Given the description of an element on the screen output the (x, y) to click on. 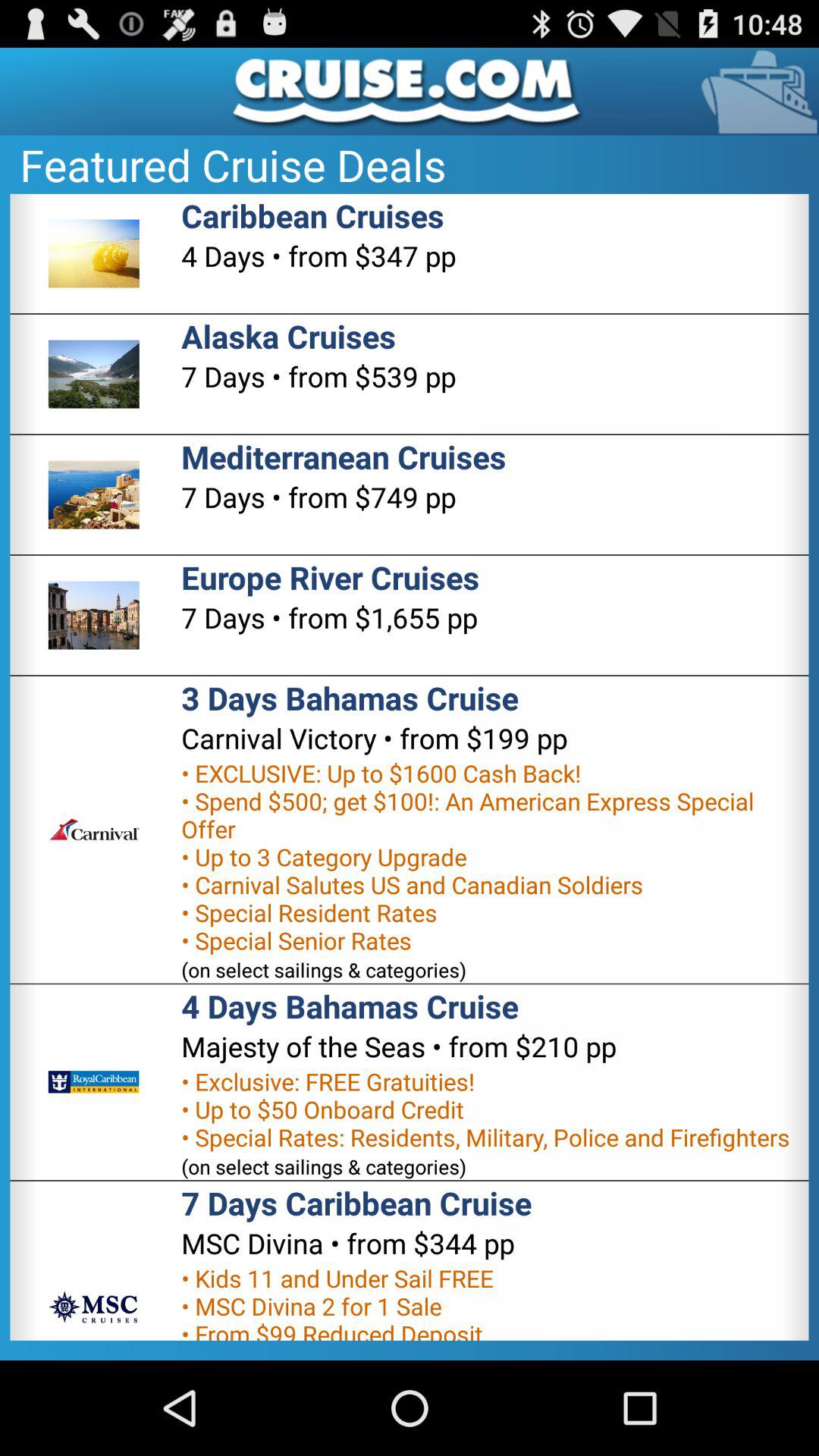
turn on the item above the 7 days from icon (288, 335)
